Given the description of an element on the screen output the (x, y) to click on. 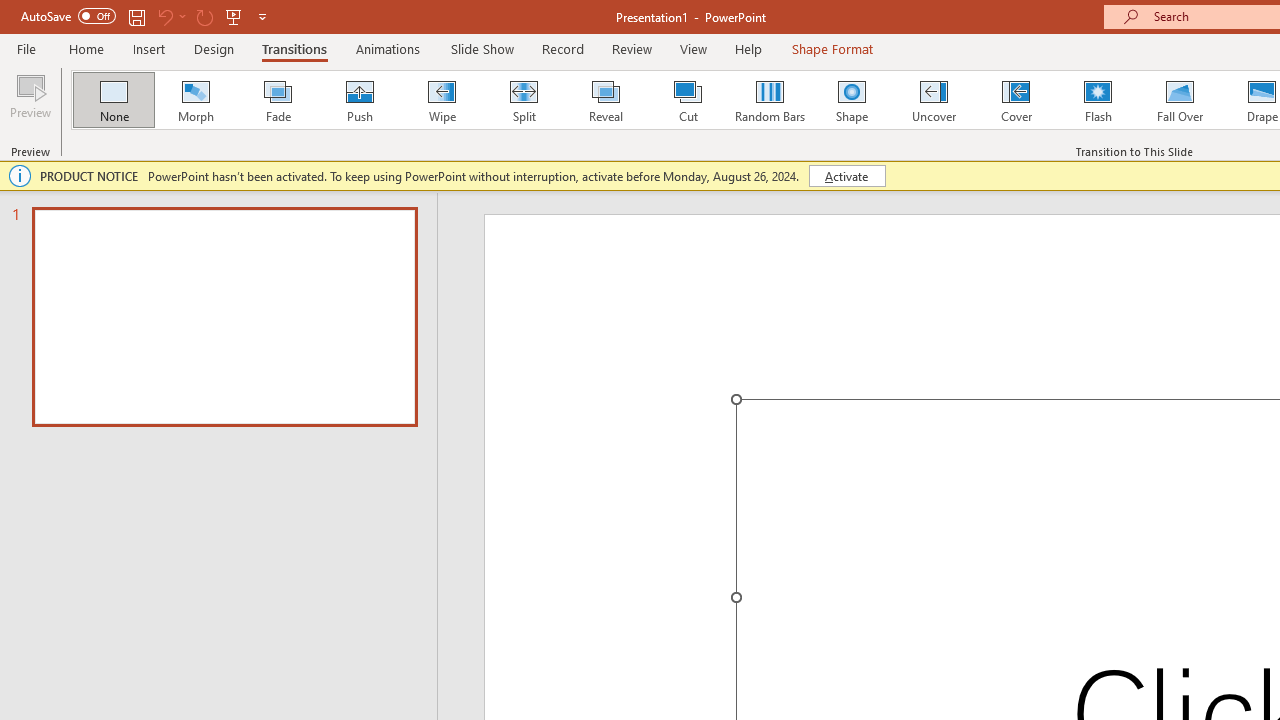
Reveal (605, 100)
Shape (852, 100)
Activate (846, 175)
Wipe (441, 100)
Uncover (934, 100)
Preview (30, 102)
Random Bars (770, 100)
